Given the description of an element on the screen output the (x, y) to click on. 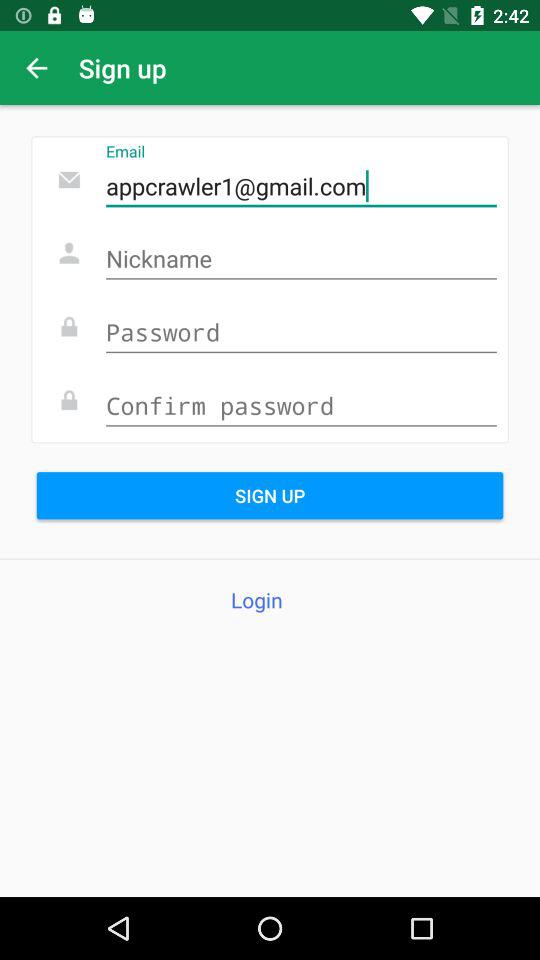
enter password (301, 333)
